Given the description of an element on the screen output the (x, y) to click on. 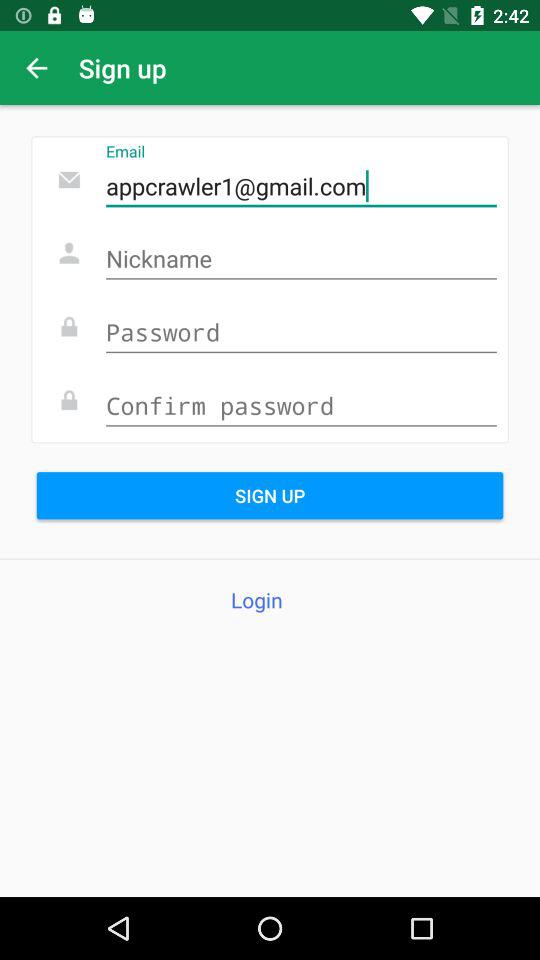
enter password (301, 333)
